Given the description of an element on the screen output the (x, y) to click on. 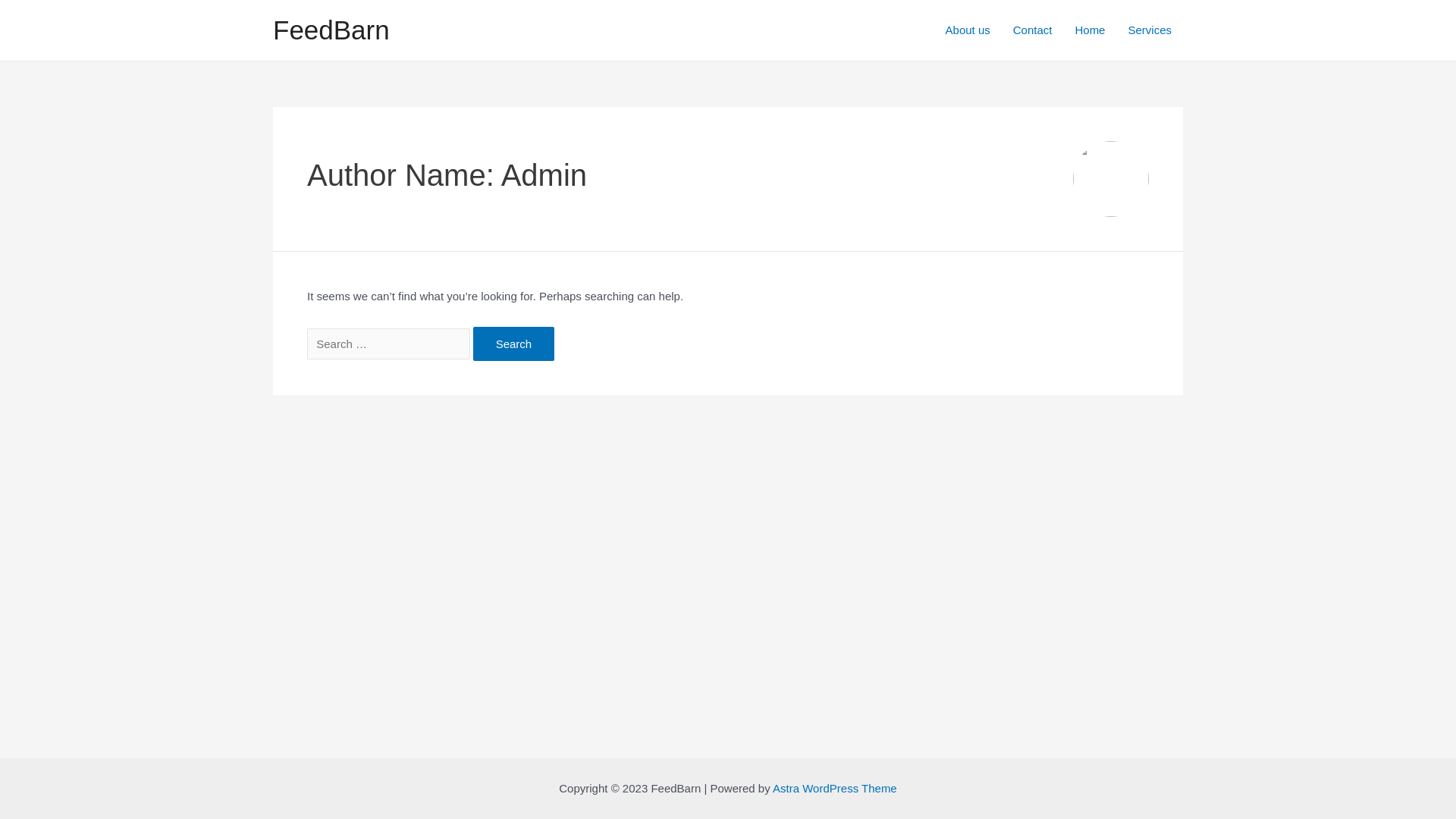
FeedBarn Element type: text (331, 29)
Home Element type: text (1089, 30)
Contact Element type: text (1032, 30)
About us Element type: text (967, 30)
Search Element type: text (514, 343)
Astra WordPress Theme Element type: text (834, 787)
Services Element type: text (1149, 30)
